Given the description of an element on the screen output the (x, y) to click on. 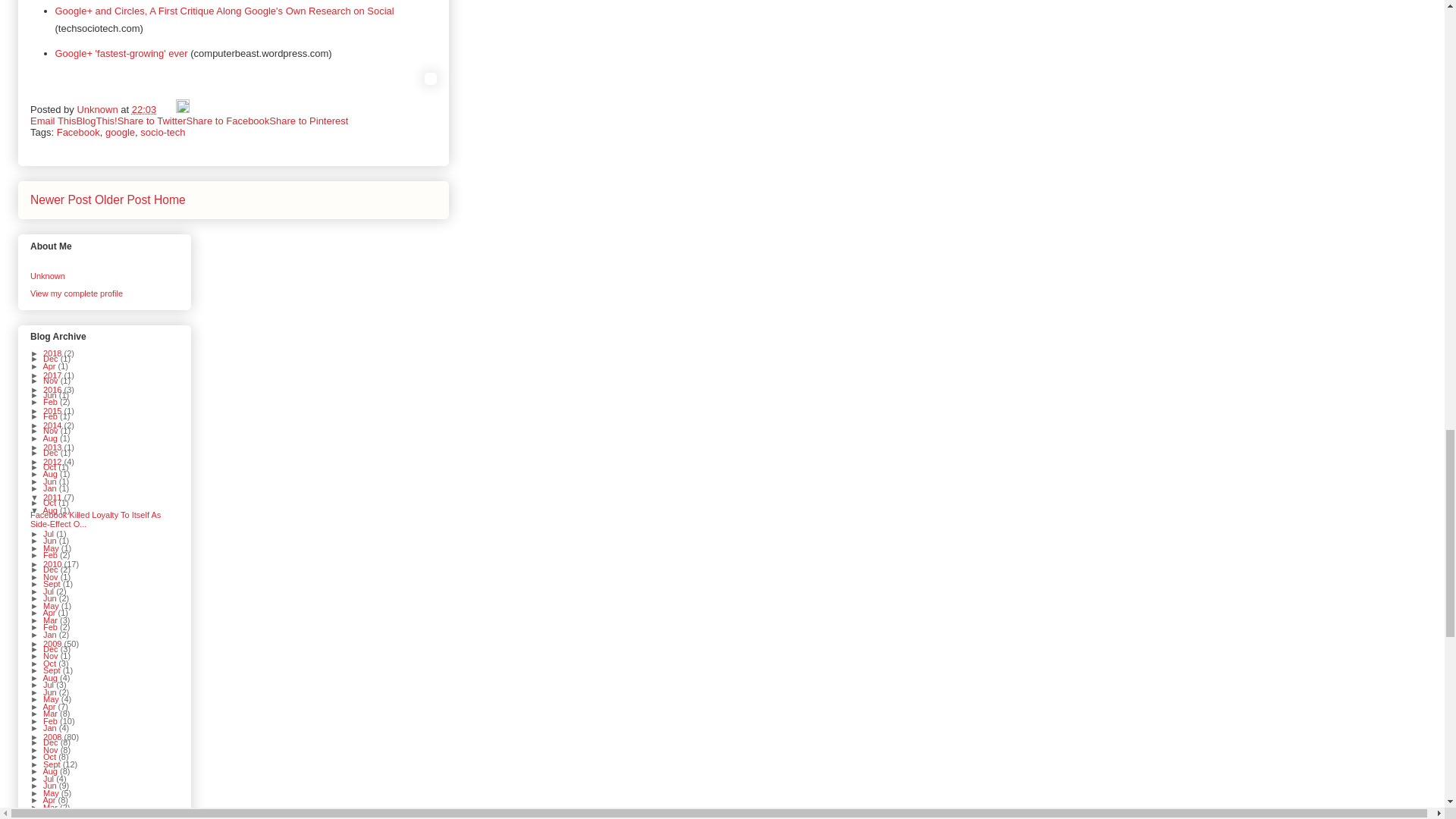
Edit Post (182, 109)
Older Post (122, 199)
Home (170, 199)
BlogThis! (95, 120)
author profile (98, 109)
Share to Twitter (151, 120)
Unknown (47, 275)
Facebook (78, 132)
Newer Post (60, 199)
Share to Facebook (227, 120)
22:03 (144, 109)
Dec (52, 358)
Apr (50, 366)
Share to Twitter (151, 120)
2017 (53, 375)
